Given the description of an element on the screen output the (x, y) to click on. 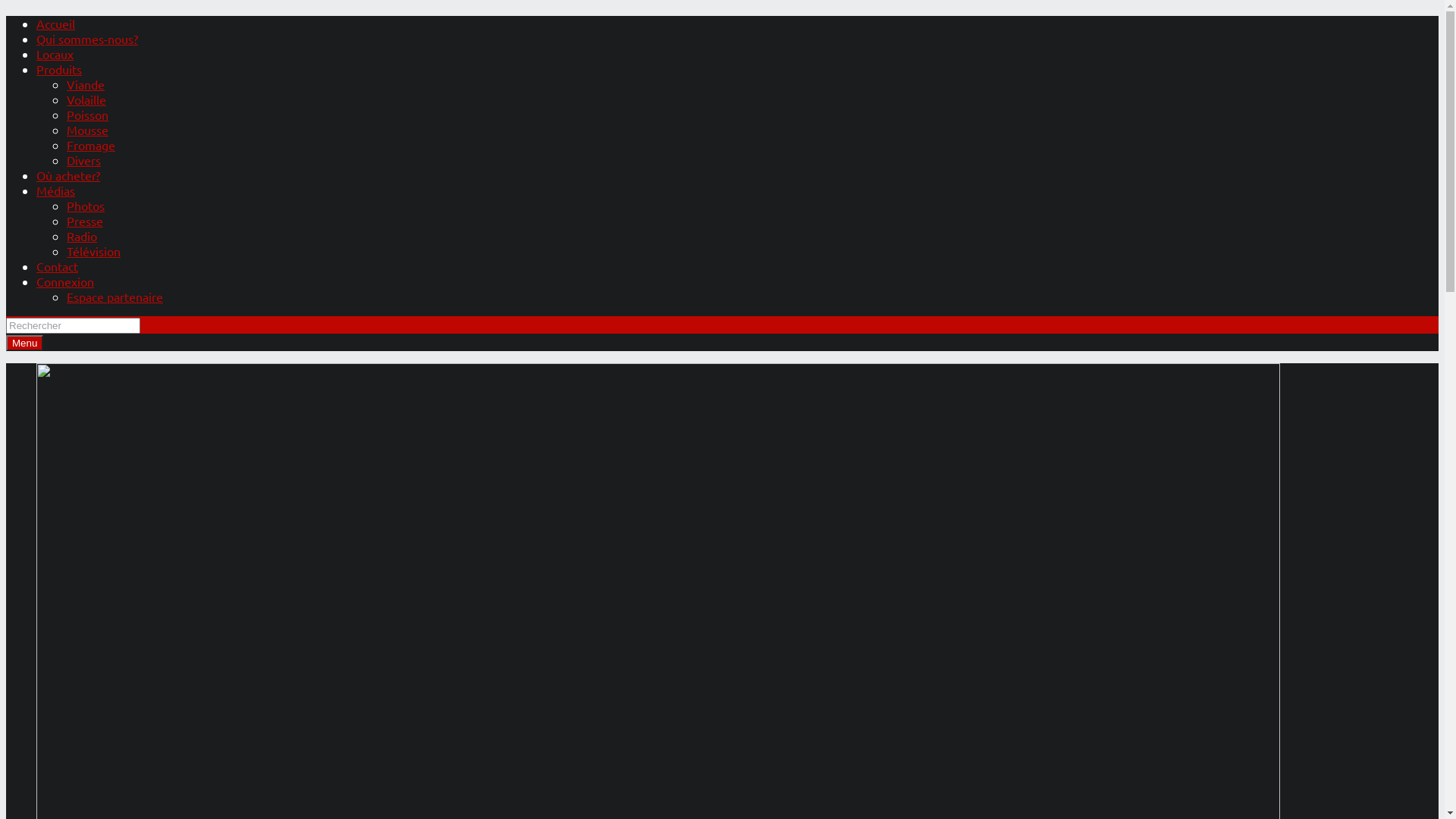
Radio Element type: text (81, 235)
Photos Element type: text (85, 205)
Mousse Element type: text (87, 129)
Accueil Element type: text (55, 23)
Connexion Element type: text (65, 280)
Poisson Element type: text (87, 114)
Divers Element type: text (83, 159)
Produits Element type: text (58, 68)
Espace partenaire Element type: text (114, 296)
Passer au contenu Element type: text (5, 15)
Viande Element type: text (85, 83)
Locaux Element type: text (54, 53)
Qui sommes-nous? Element type: text (87, 38)
Presse Element type: text (84, 220)
Contact Element type: text (57, 265)
Volaille Element type: text (86, 98)
Menu Element type: text (24, 343)
Fromage Element type: text (90, 144)
